Given the description of an element on the screen output the (x, y) to click on. 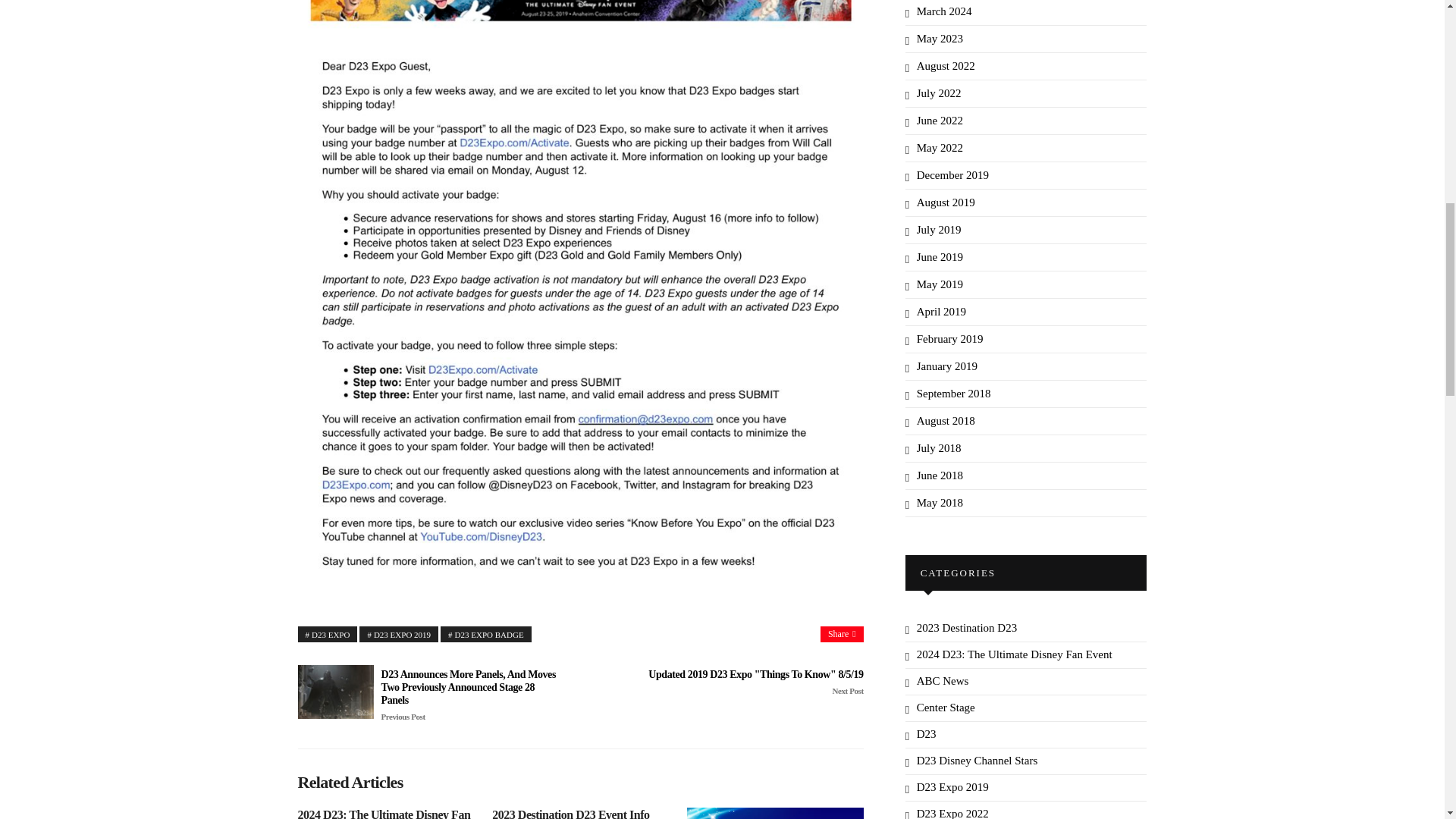
D23 EXPO BADGE (486, 634)
D23 EXPO 2019 (398, 634)
D23 EXPO (326, 634)
